Given the description of an element on the screen output the (x, y) to click on. 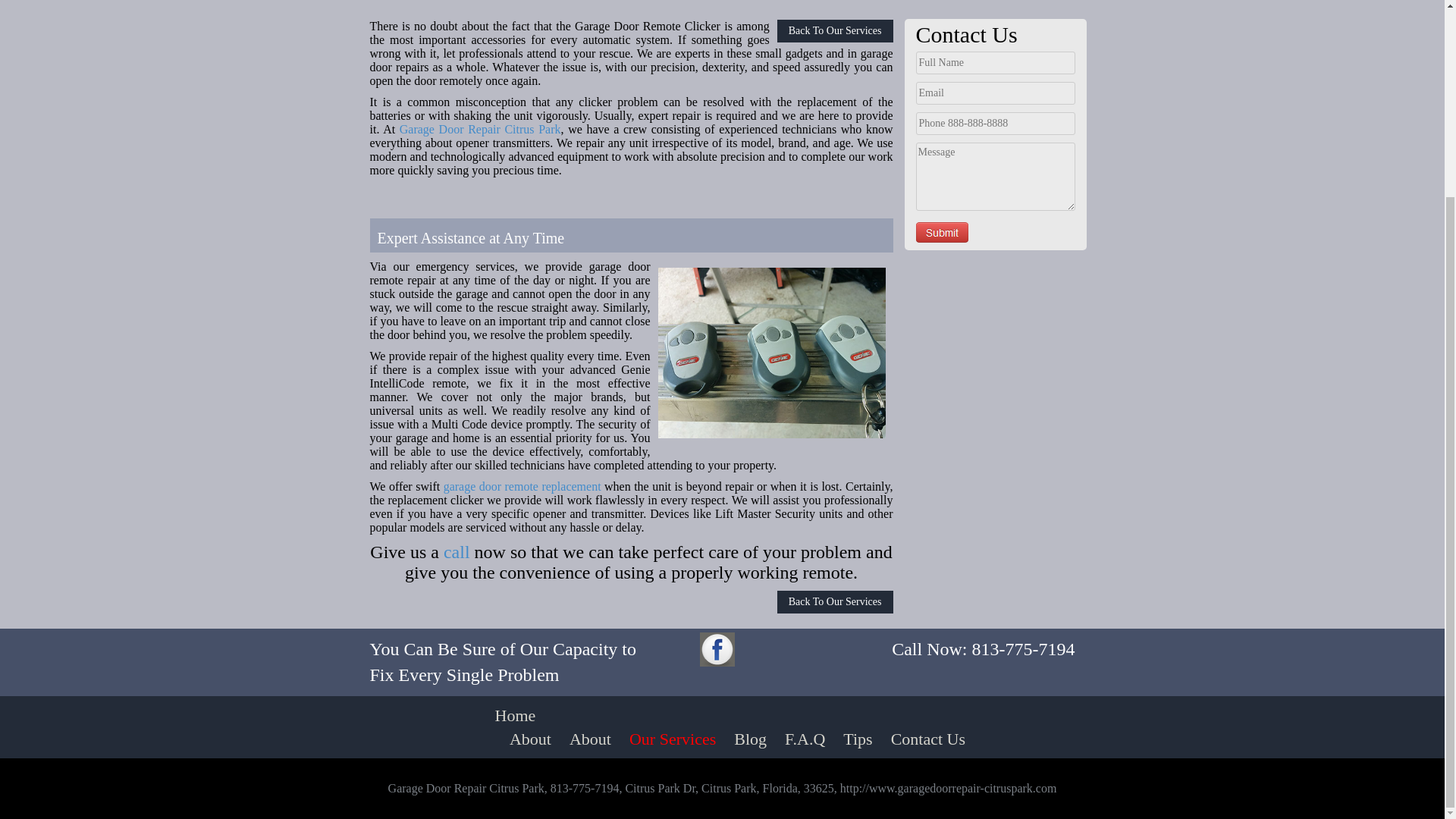
About (590, 739)
Home (515, 715)
garage door remote replacement (522, 486)
Garage Door Repair Citrus Park (479, 128)
Garage Door Repair Citrus Park (479, 128)
call (457, 551)
garage door remote replacement (522, 486)
Back To Our Services (835, 30)
contact us (457, 551)
